Given the description of an element on the screen output the (x, y) to click on. 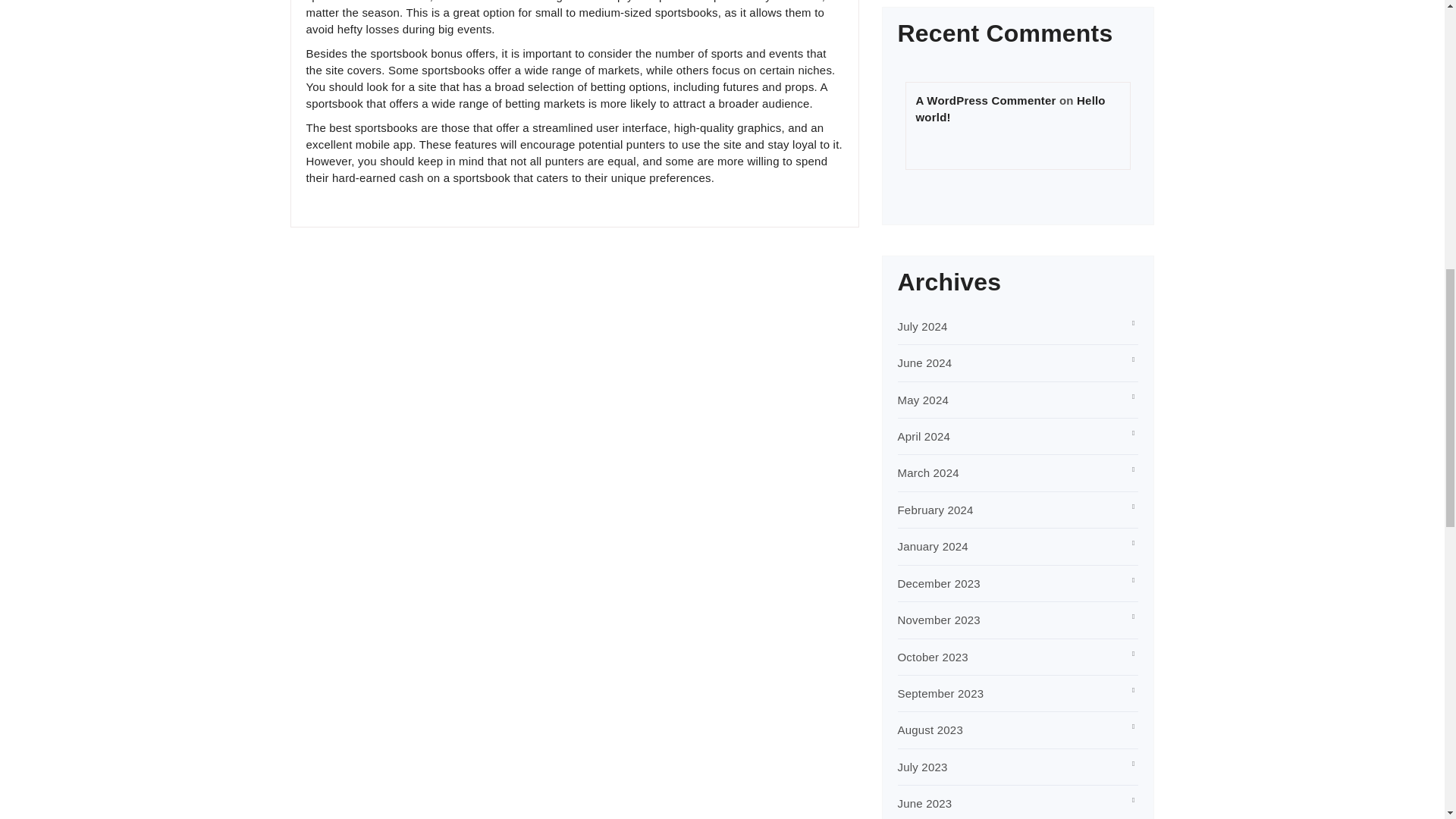
August 2023 (930, 729)
Hello world! (1010, 109)
September 2023 (941, 693)
June 2023 (925, 802)
January 2024 (933, 545)
June 2024 (925, 362)
July 2024 (922, 326)
November 2023 (938, 619)
May 2024 (923, 399)
February 2024 (936, 509)
A WordPress Commenter (986, 100)
July 2023 (922, 766)
October 2023 (933, 656)
March 2024 (928, 472)
April 2024 (924, 436)
